Given the description of an element on the screen output the (x, y) to click on. 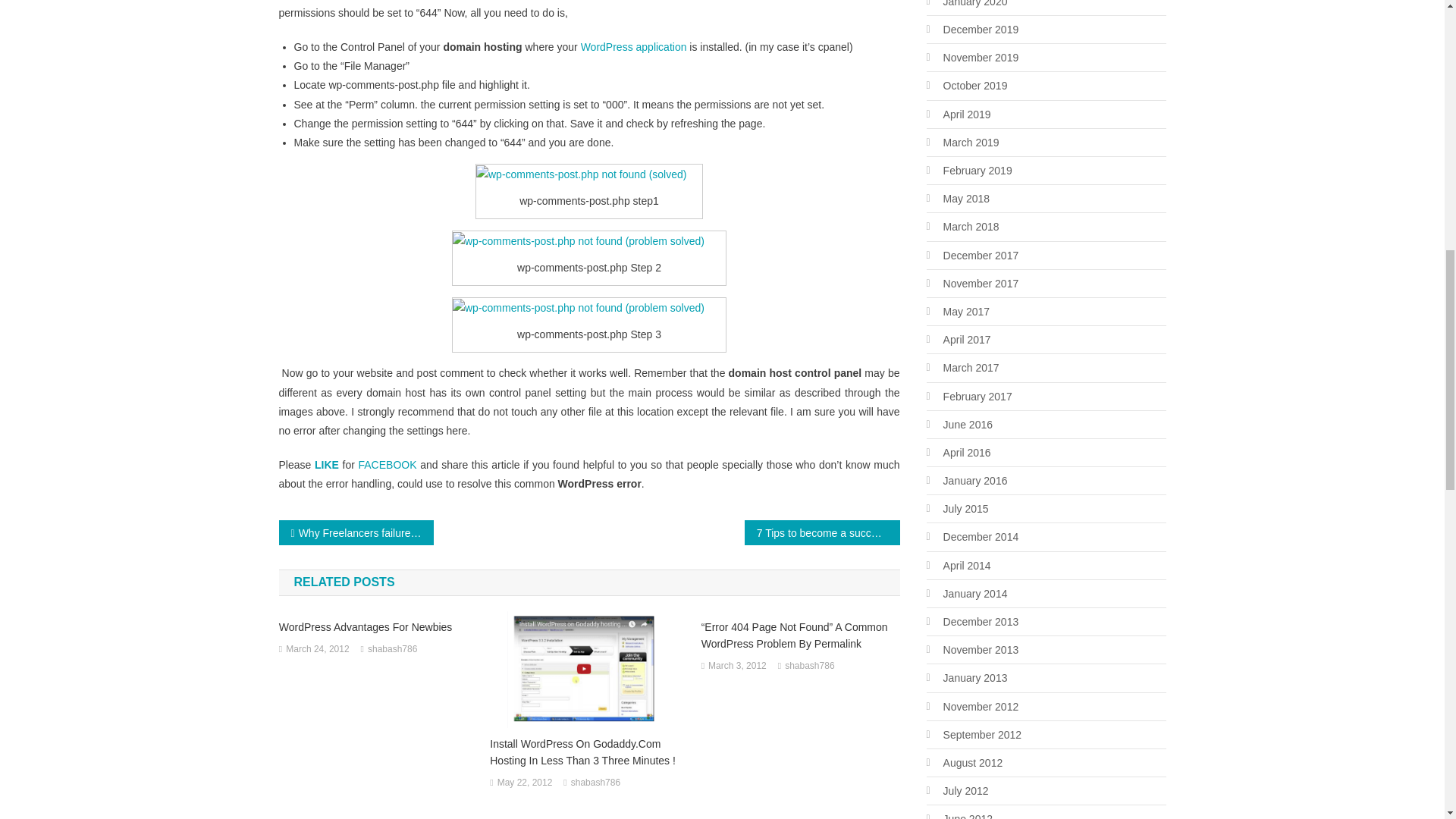
WordPress application (633, 46)
FACEBOOK (387, 464)
Why Freelancers failure to get freelance jobs? (356, 532)
LIKE (326, 464)
